Given the description of an element on the screen output the (x, y) to click on. 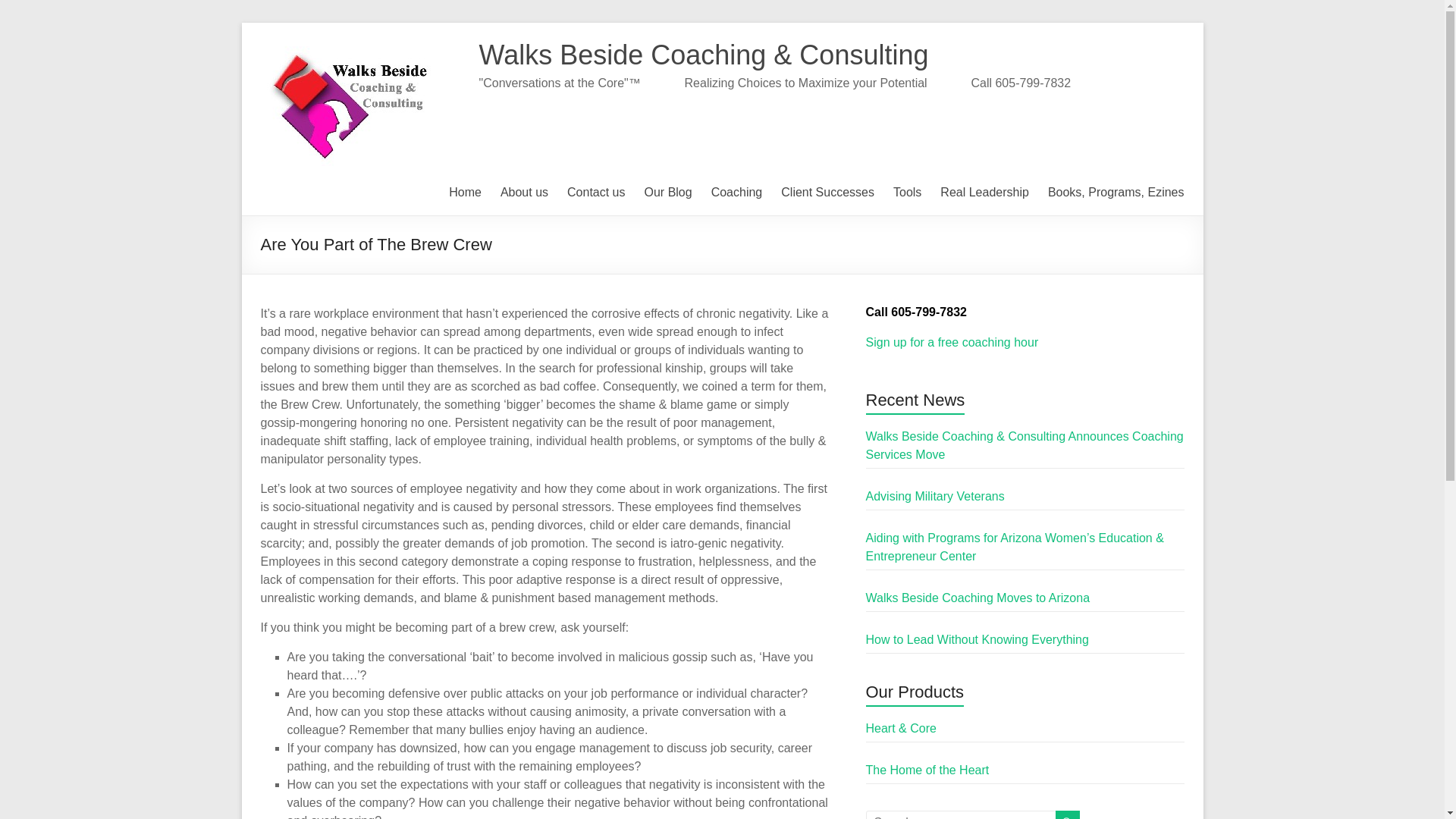
Client Successes (827, 191)
Walks Beside Coaching Moves to Arizona (978, 597)
About us (524, 191)
Coaching (736, 191)
Books, Programs, Ezines (1116, 191)
Our Blog (669, 191)
Sign up for a free coaching hour (952, 341)
How to Lead Without Knowing Everything (977, 639)
Tools (907, 191)
